Given the description of an element on the screen output the (x, y) to click on. 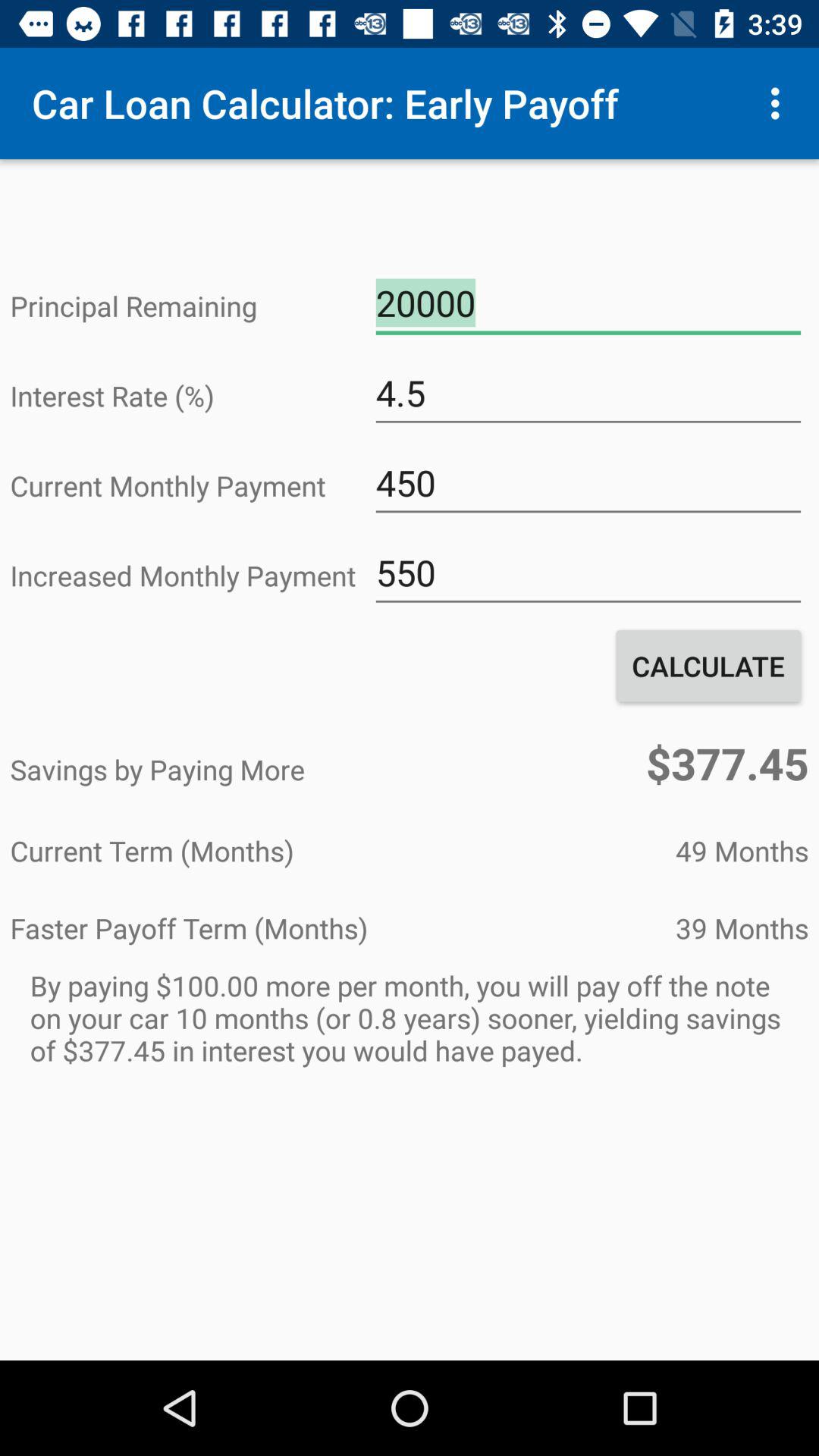
choose the item above calculate icon (587, 573)
